Given the description of an element on the screen output the (x, y) to click on. 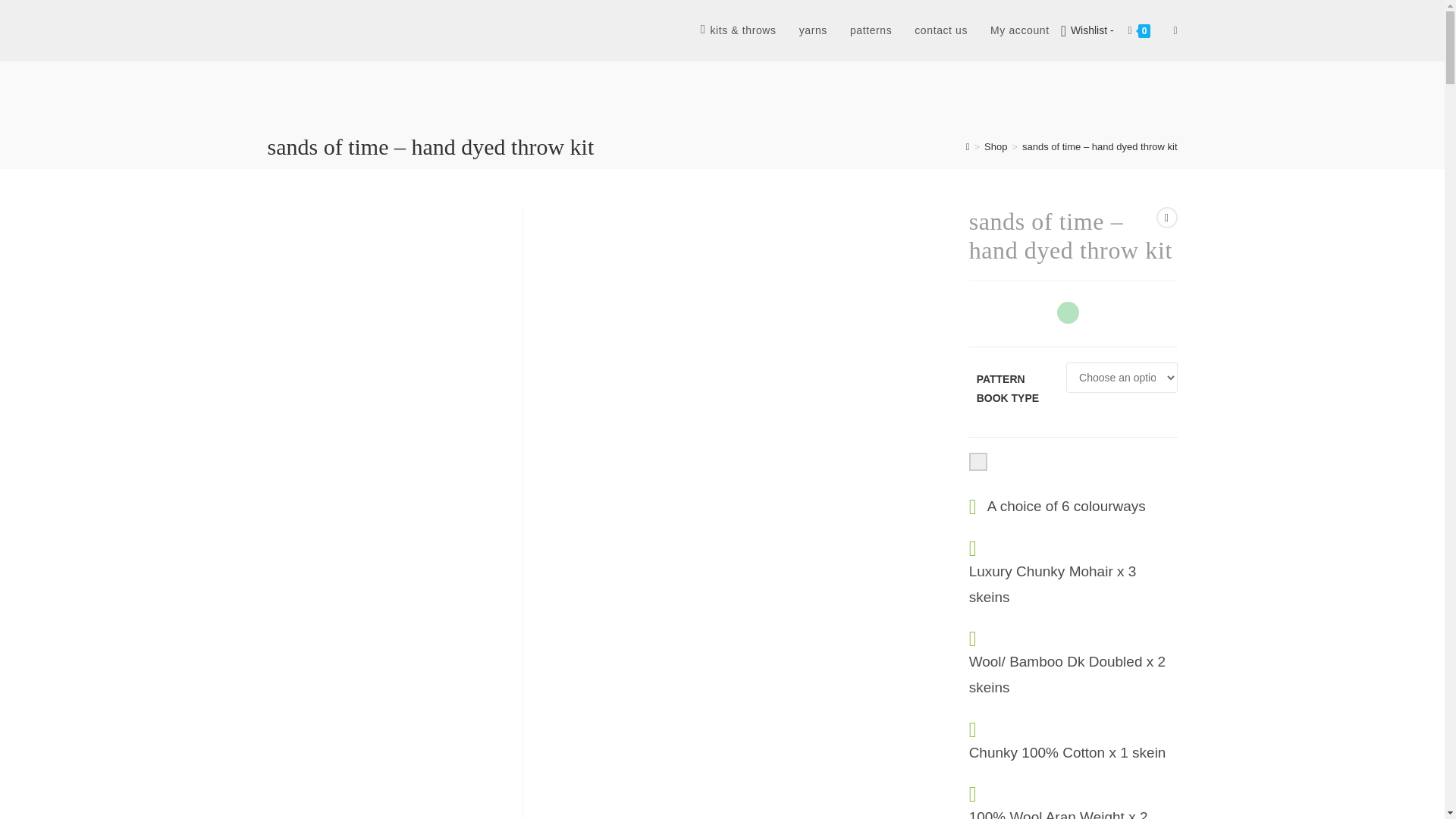
My account (1019, 30)
patterns (870, 30)
Wishlist - (1088, 29)
Shop (995, 146)
contact us (940, 30)
